Given the description of an element on the screen output the (x, y) to click on. 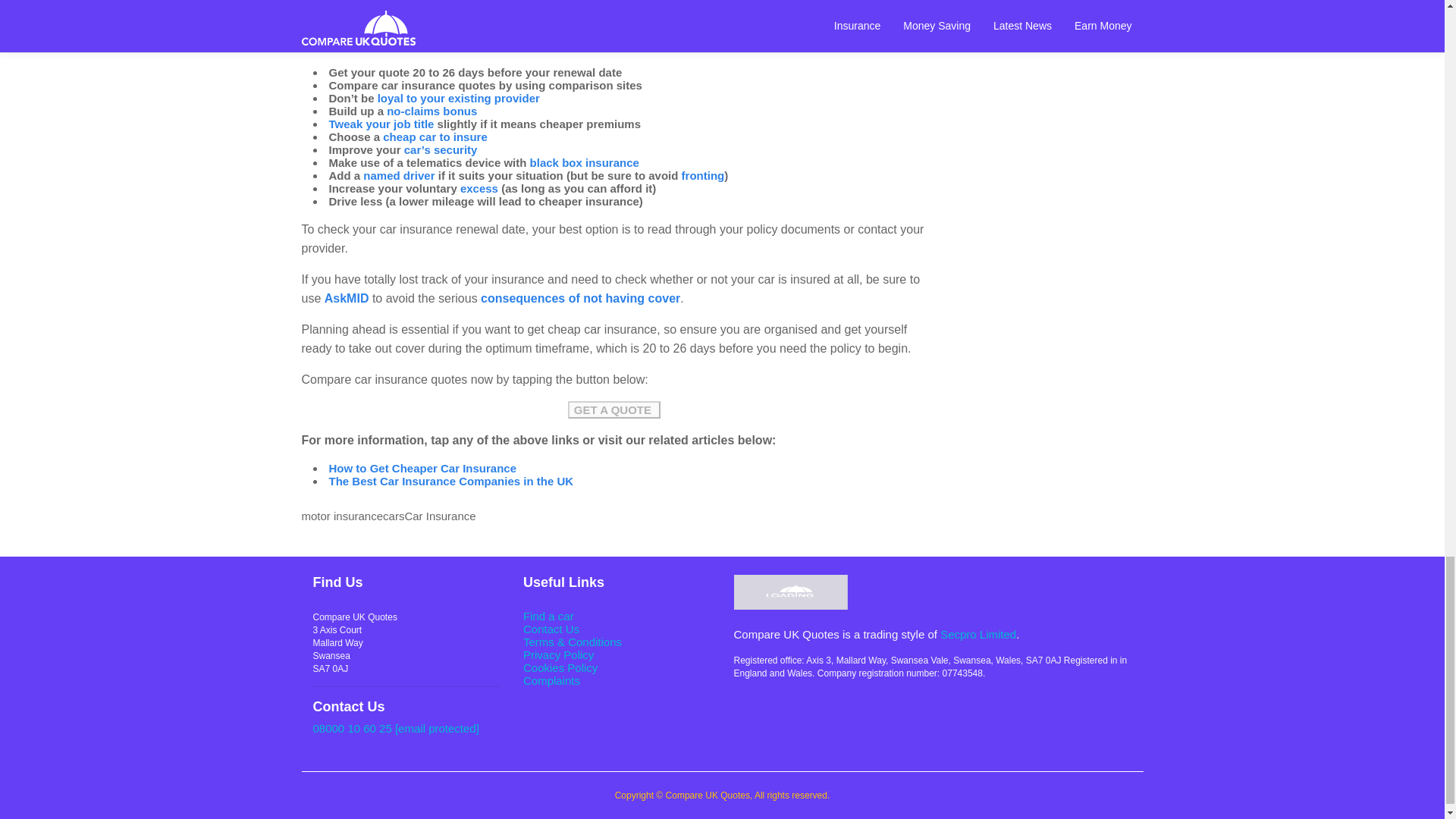
A guide to no claims bonuses (432, 110)
How job titles affect car insurance (381, 123)
What is AskMID? (346, 297)
Car insurance fronting (703, 174)
The consequences of not having insurance (579, 297)
The Best Car Insurance Companies in the UK (451, 481)
How to Get Cheaper Car Insurance (422, 468)
Best car security devices (440, 149)
Car insurance loyalty increases premiums (458, 97)
Named driver car insurance (397, 174)
